Given the description of an element on the screen output the (x, y) to click on. 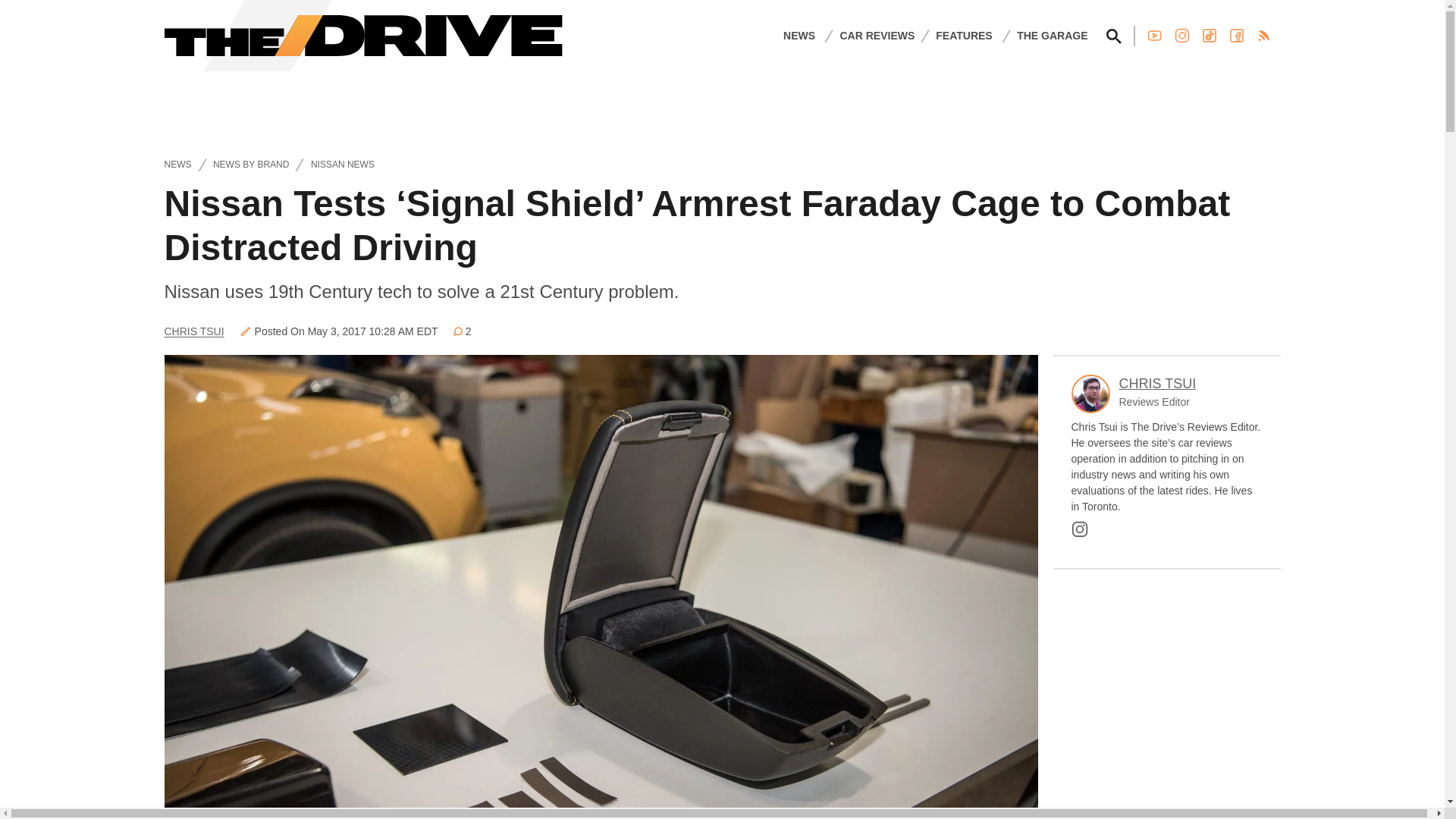
3rd party ad content (721, 105)
3rd party ad content (1165, 694)
NEWS (799, 34)
